Given the description of an element on the screen output the (x, y) to click on. 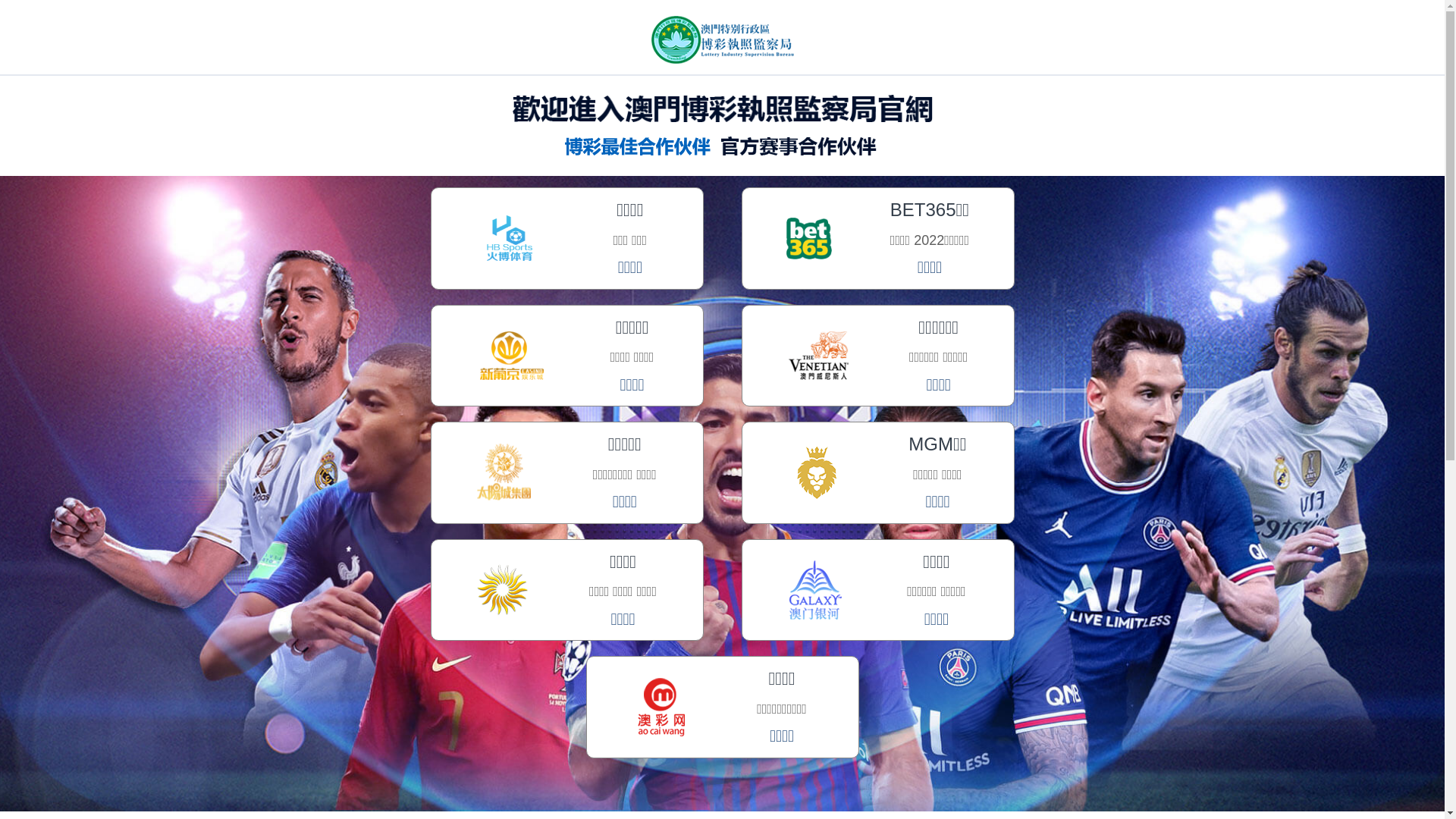
Send Element type: text (164, 629)
